Given the description of an element on the screen output the (x, y) to click on. 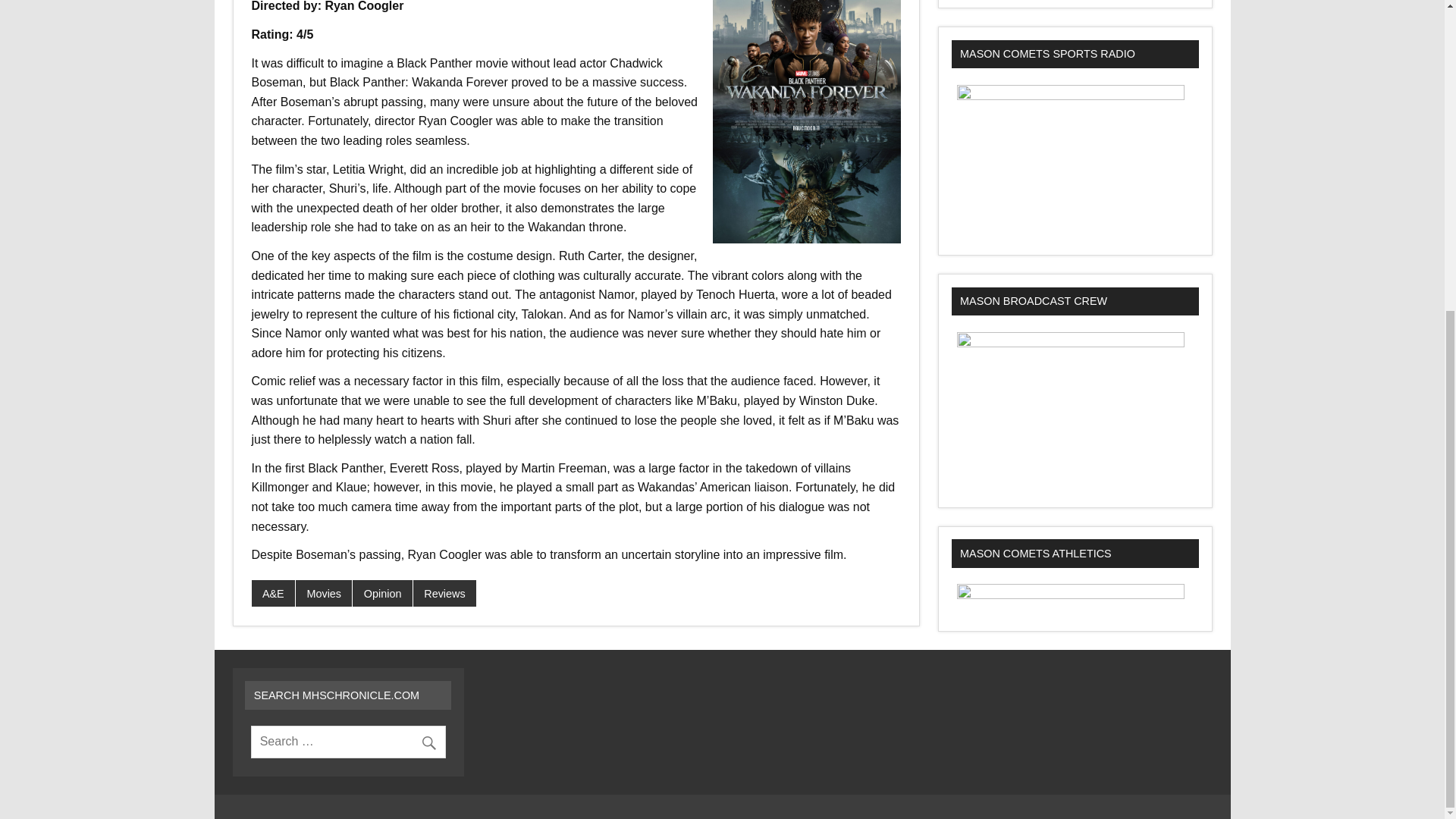
Opinion (382, 593)
Movies (323, 593)
Reviews (444, 593)
